Given the description of an element on the screen output the (x, y) to click on. 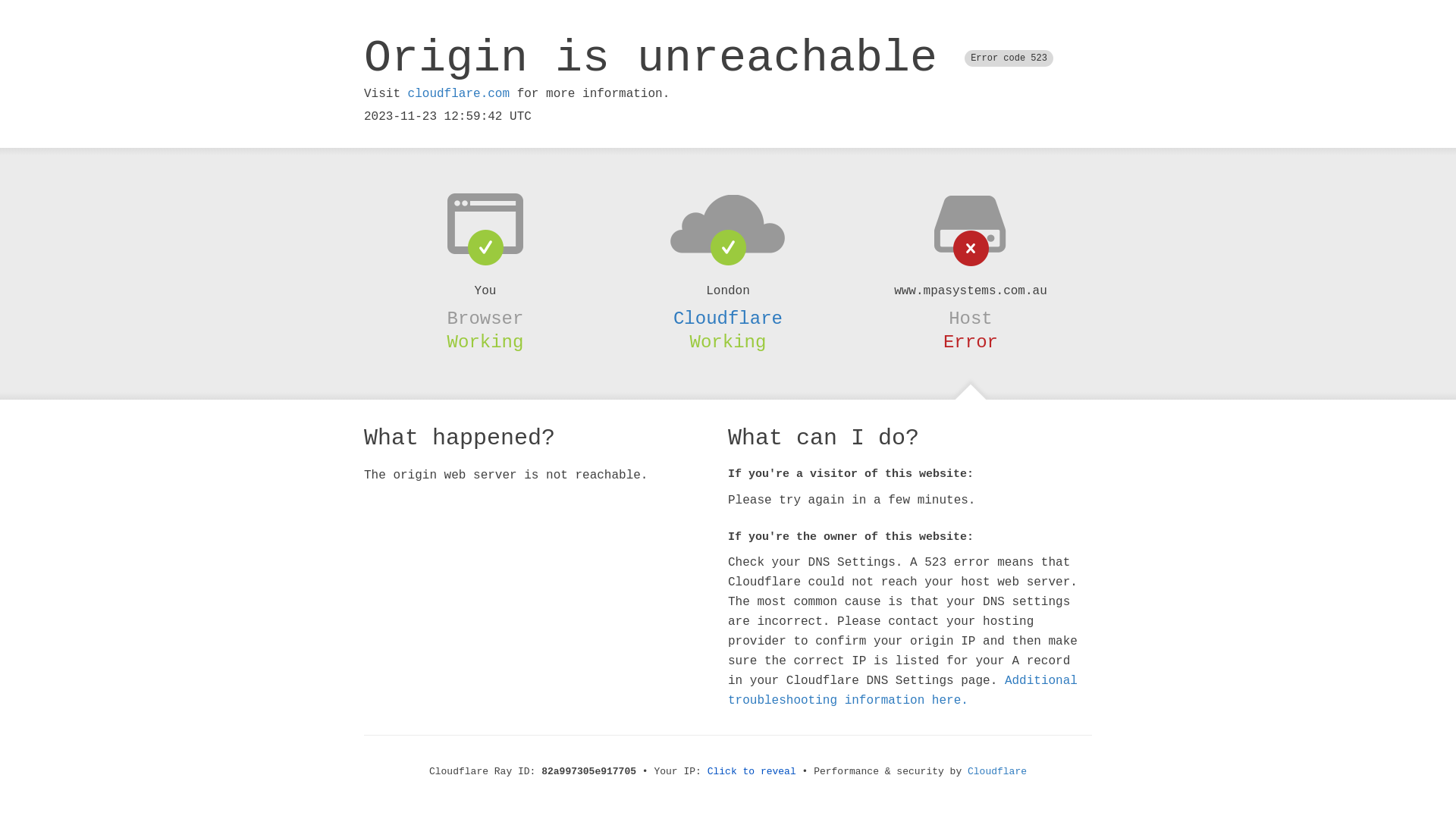
Cloudflare Element type: text (996, 771)
cloudflare.com Element type: text (458, 93)
Cloudflare Element type: text (727, 318)
Click to reveal Element type: text (751, 771)
Additional troubleshooting information here. Element type: text (902, 690)
